Given the description of an element on the screen output the (x, y) to click on. 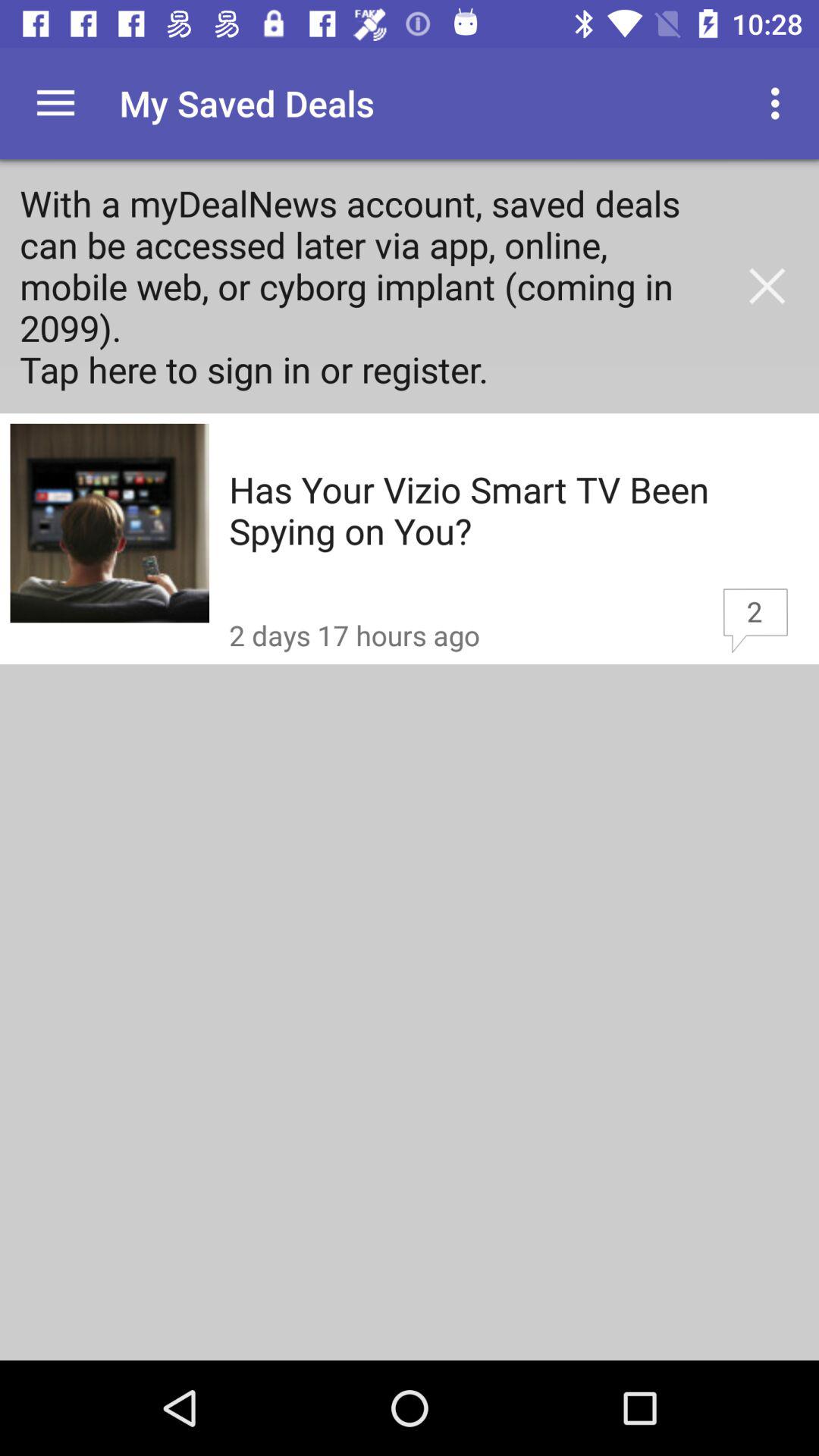
close (767, 285)
